Given the description of an element on the screen output the (x, y) to click on. 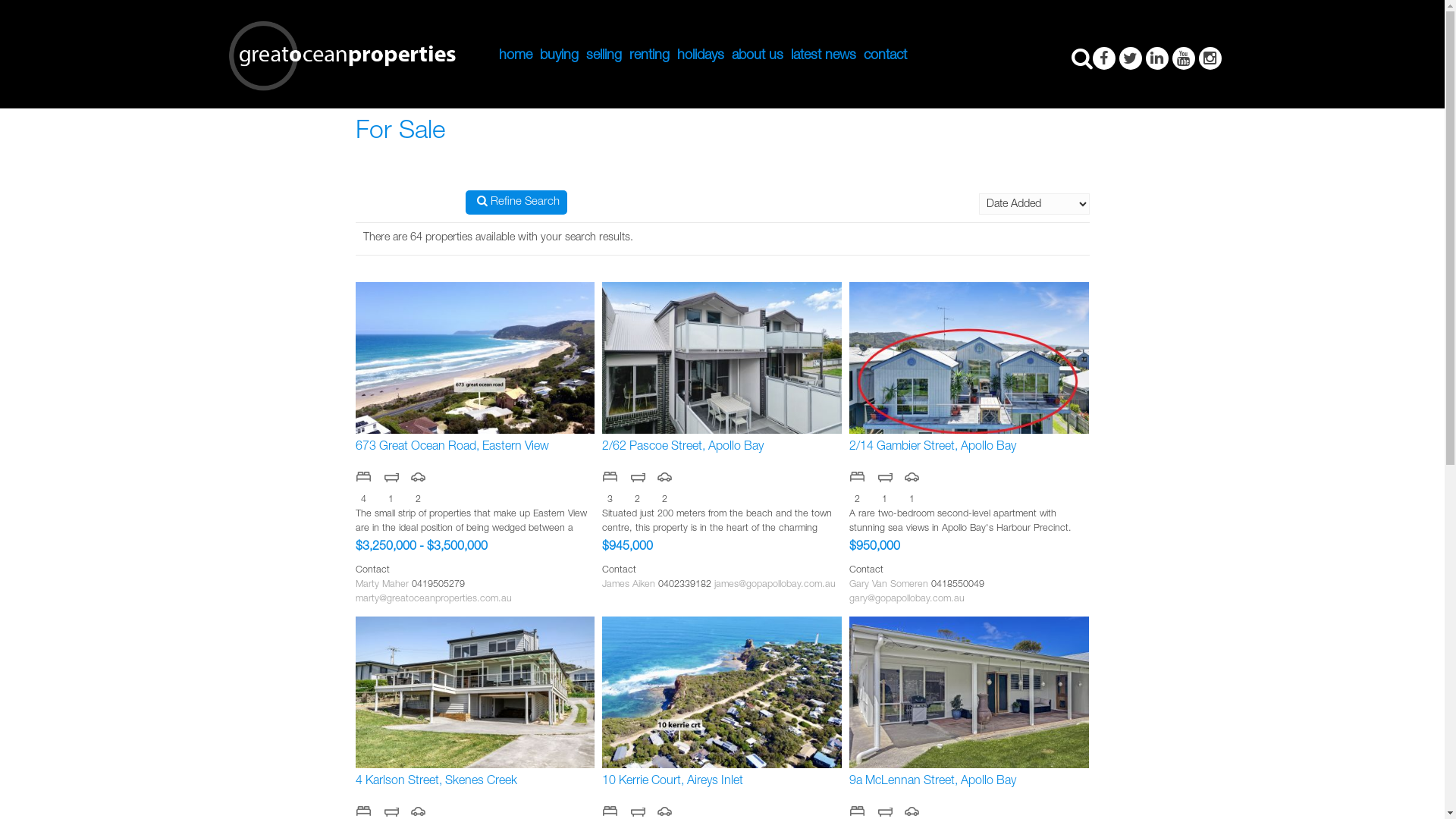
marty@greatoceanproperties.com.au Element type: text (432, 599)
selling Element type: text (603, 56)
2/62 Pascoe Street, Apollo Bay Element type: hover (721, 357)
about us Element type: text (757, 56)
2/14 Gambier Street, Apollo Bay Element type: hover (968, 357)
Gary Van Someren Element type: text (888, 584)
4 Karlson Street, Skenes Creek Element type: hover (474, 692)
buying Element type: text (558, 56)
9a McLennan Street, Apollo Bay Element type: hover (968, 692)
contact Element type: text (884, 56)
10 Kerrie Court, Aireys Inlet Element type: hover (721, 692)
renting Element type: text (648, 56)
latest news Element type: text (823, 56)
james@gopapollobay.com.au Element type: text (774, 584)
home Element type: text (514, 56)
gary@gopapollobay.com.au Element type: text (906, 599)
holidays Element type: text (700, 56)
Marty Maher Element type: text (380, 584)
James Aiken Element type: text (628, 584)
673 Great Ocean Road, Eastern View Element type: hover (474, 357)
